Given the description of an element on the screen output the (x, y) to click on. 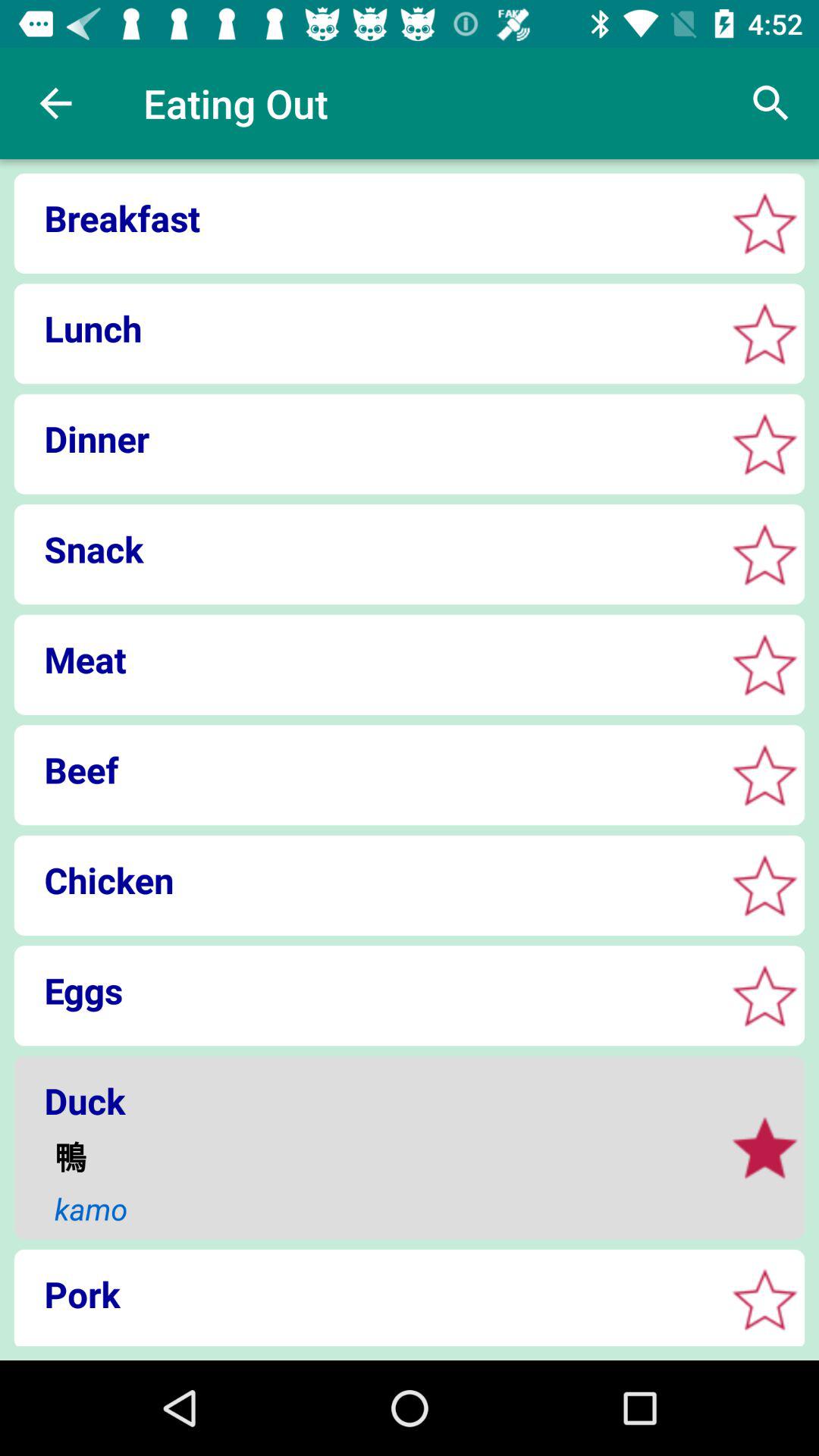
select new word (764, 775)
